Given the description of an element on the screen output the (x, y) to click on. 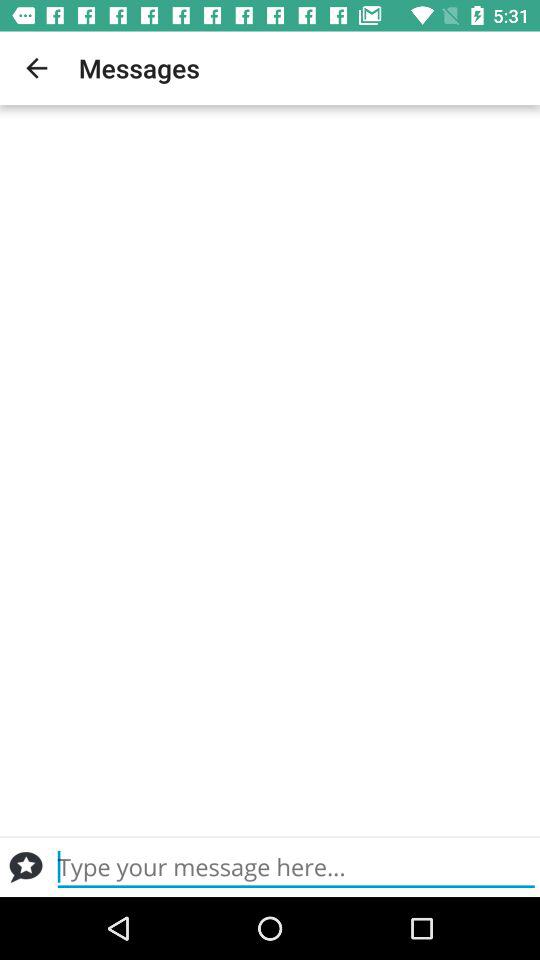
type message (296, 867)
